Given the description of an element on the screen output the (x, y) to click on. 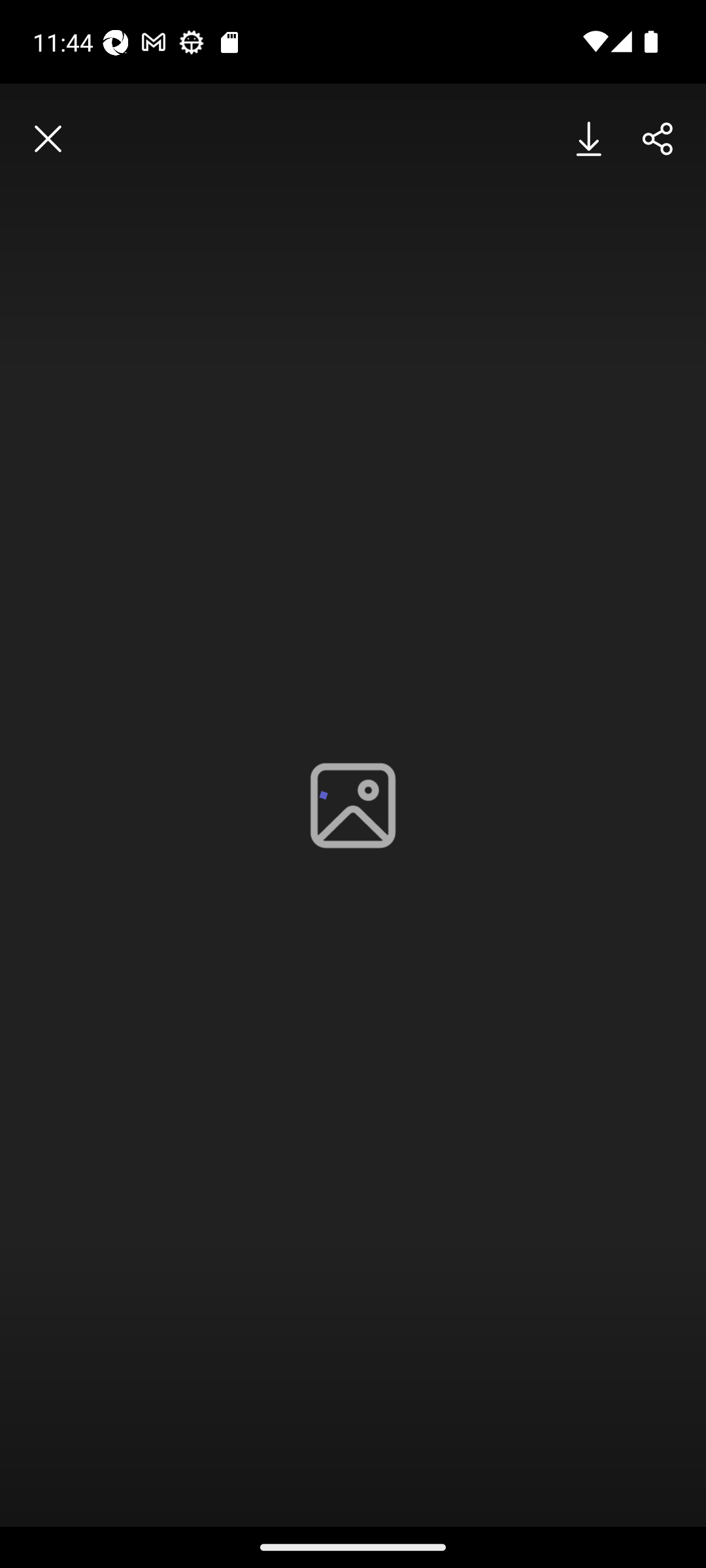
exit (47, 138)
save image (589, 138)
share image (657, 138)
